Given the description of an element on the screen output the (x, y) to click on. 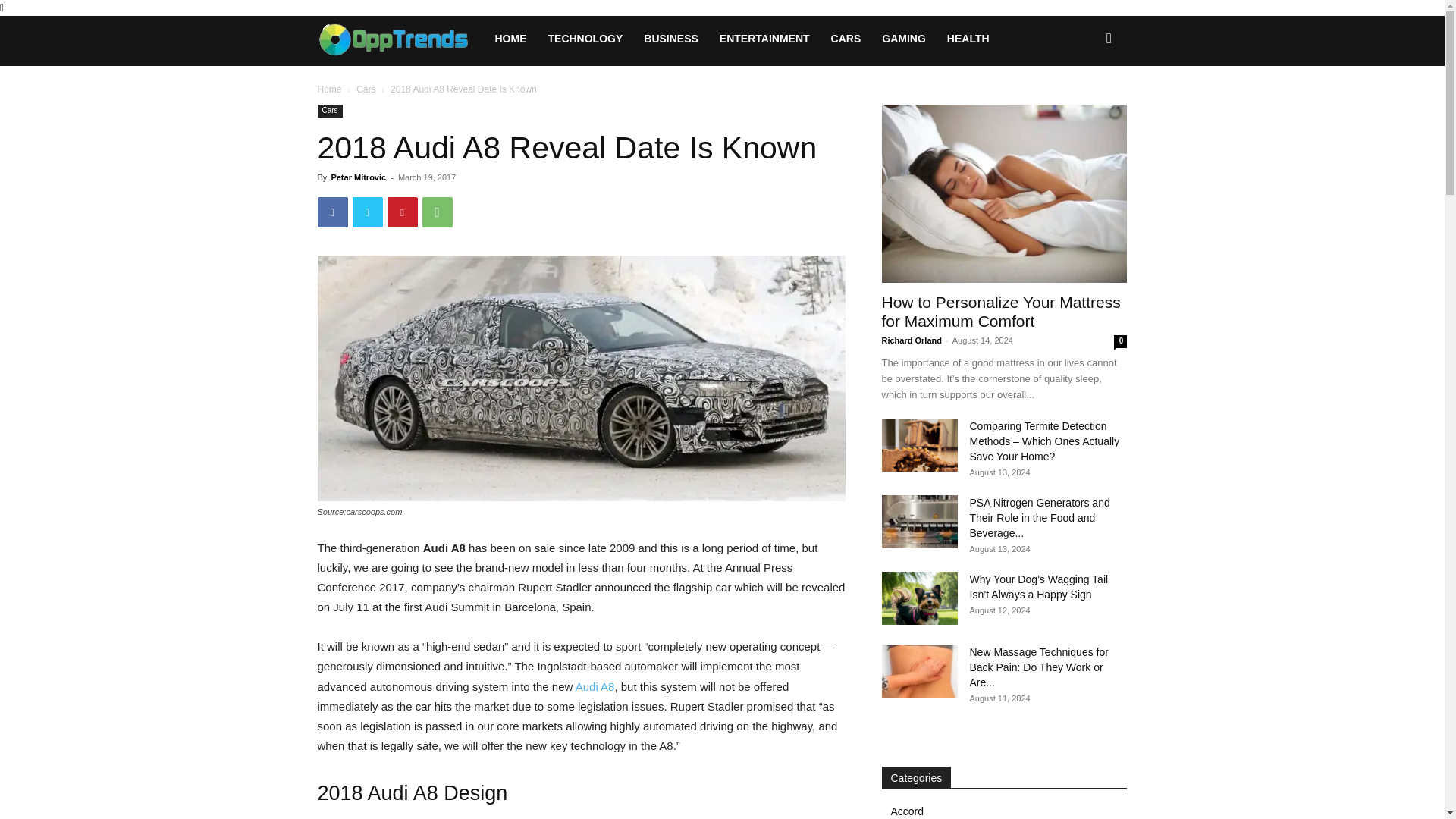
HOME (510, 38)
Facebook (332, 212)
Home (328, 89)
BUSINESS (671, 38)
Cars (329, 110)
Petar Mitrovic (357, 176)
WhatsApp (436, 212)
HEALTH (968, 38)
2018 Audi A8 (580, 378)
GAMING (903, 38)
